Given the description of an element on the screen output the (x, y) to click on. 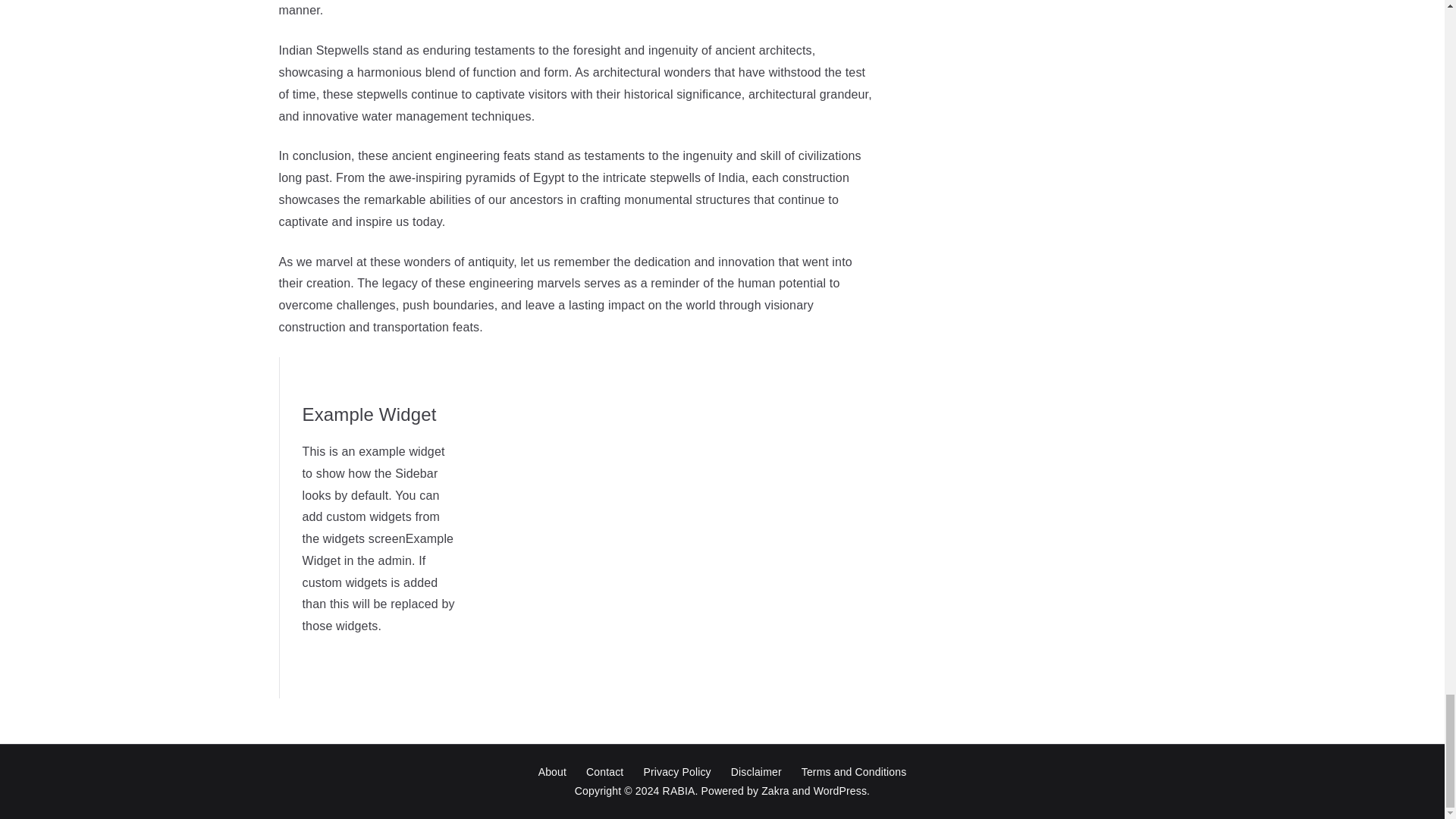
Zakra (775, 790)
WordPress (839, 790)
Zakra (775, 790)
RABIA (678, 790)
Terms and Conditions (854, 772)
Contact (604, 772)
RABIA (678, 790)
Disclaimer (756, 772)
About (552, 772)
Privacy Policy (676, 772)
